Given the description of an element on the screen output the (x, y) to click on. 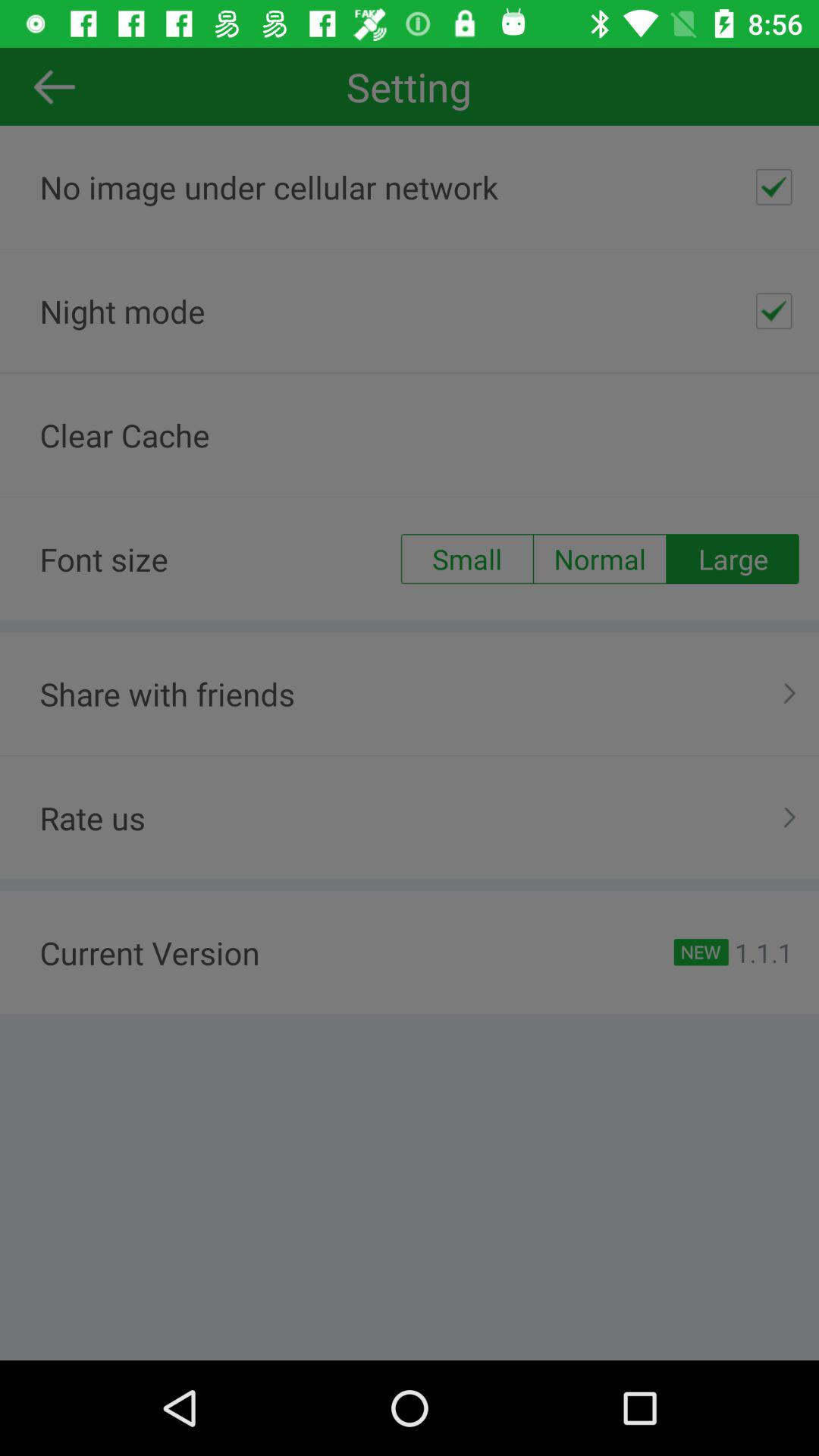
flip until the small radio button (466, 559)
